Given the description of an element on the screen output the (x, y) to click on. 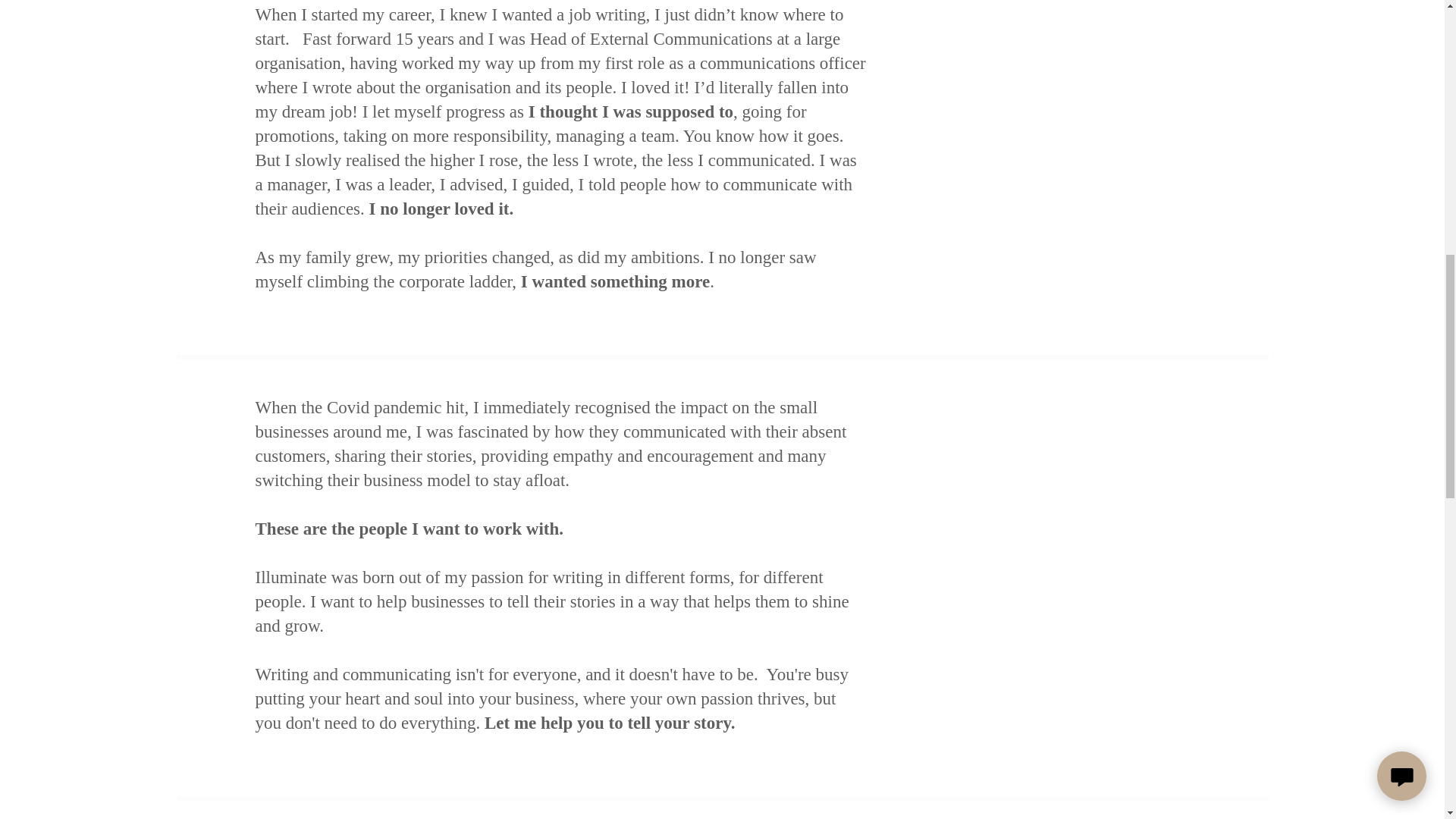
DECLINE (1203, 324)
ACCEPT (1345, 324)
